Given the description of an element on the screen output the (x, y) to click on. 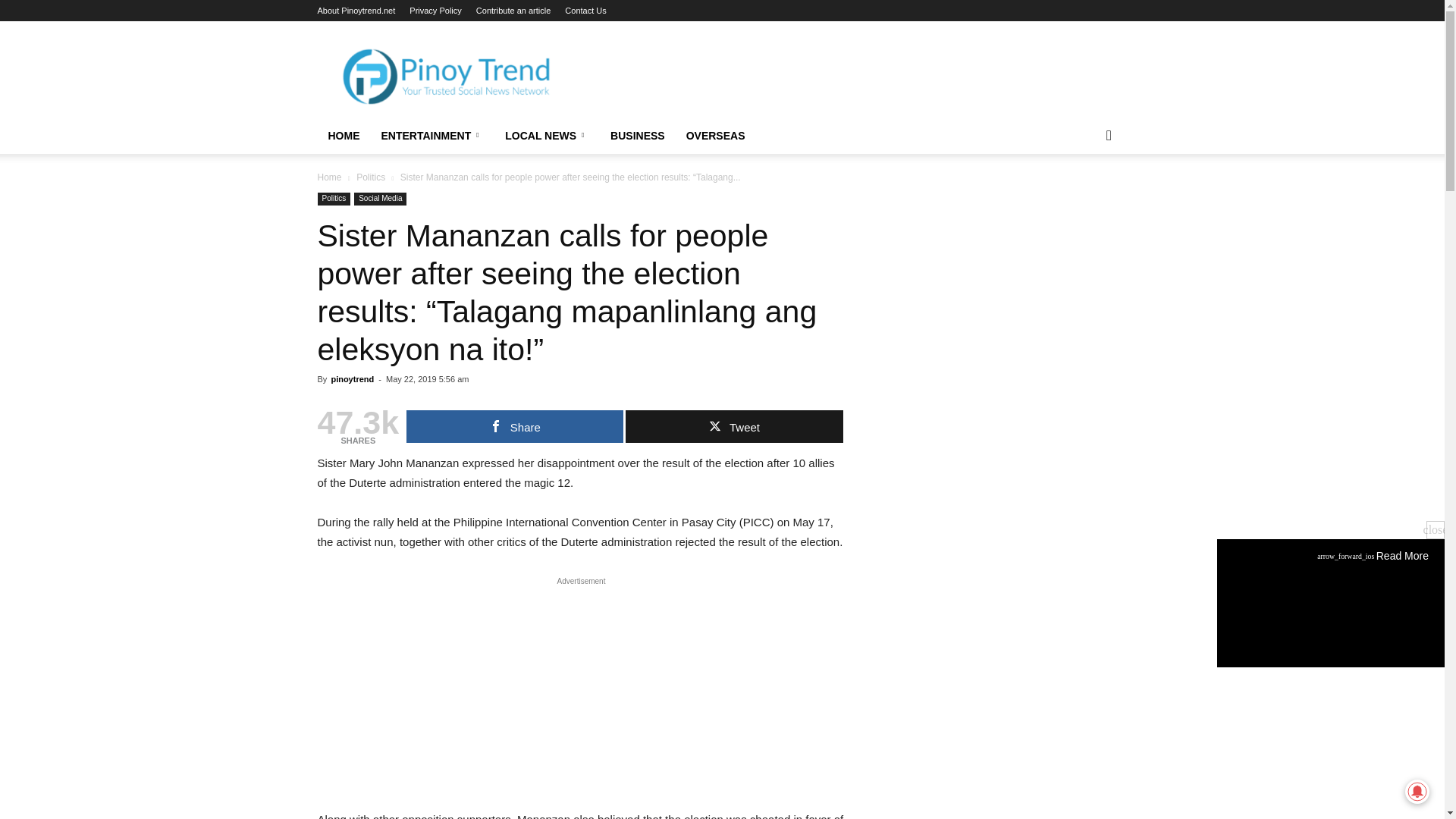
Home (328, 176)
LOCAL NEWS (547, 135)
pinoytrend (352, 379)
OVERSEAS (715, 135)
Social Media (379, 198)
Contribute an article (513, 10)
About Pinoytrend.net (355, 10)
Advertisement (580, 697)
Politics (333, 198)
BUSINESS (637, 135)
ENTERTAINMENT (432, 135)
HOME (343, 135)
View all posts in Politics (370, 176)
Share (514, 426)
Politics (370, 176)
